Given the description of an element on the screen output the (x, y) to click on. 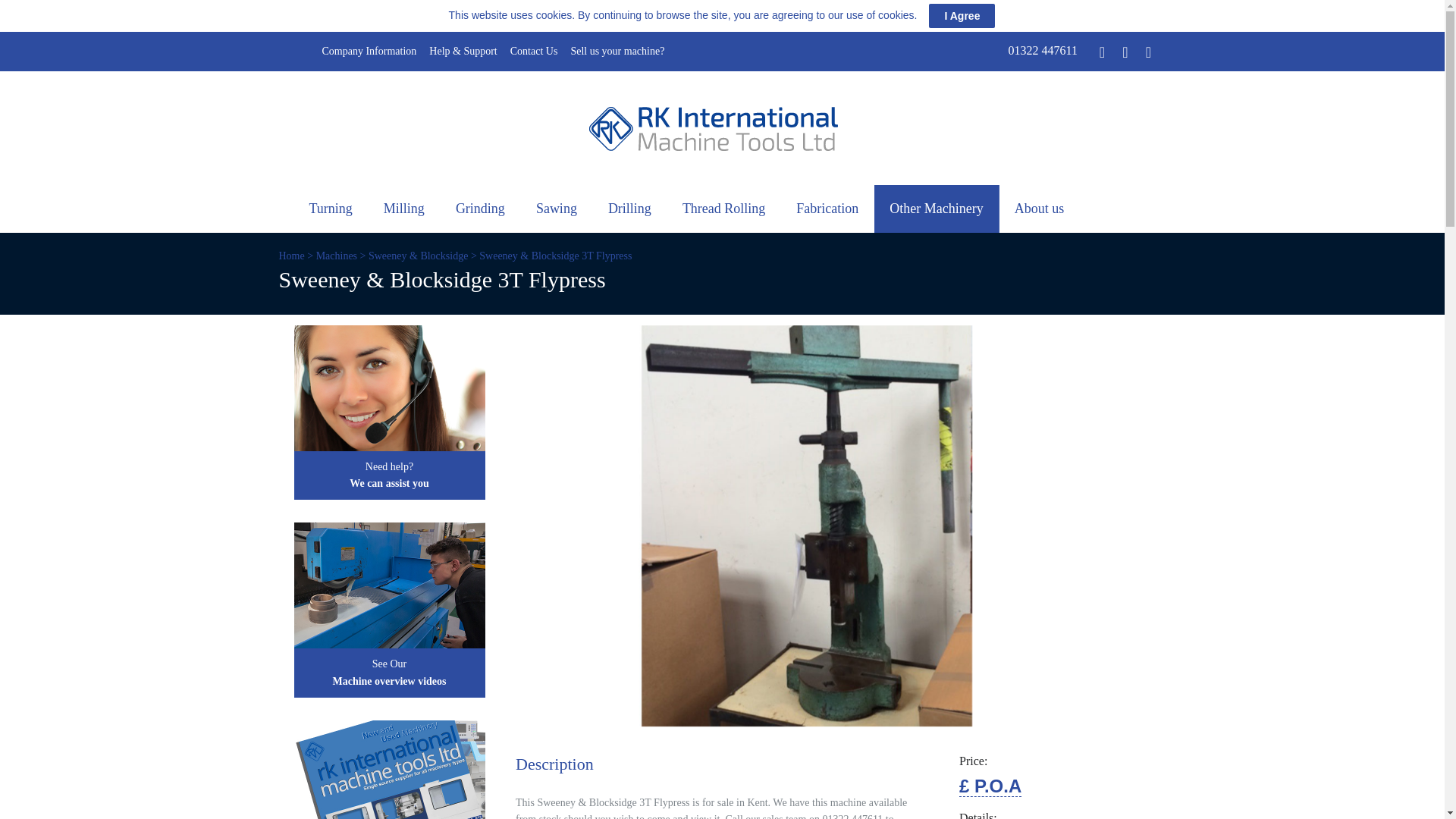
Sell us your machine? (616, 50)
Contact Us (534, 50)
Company Information (368, 50)
Turning (331, 208)
Milling (404, 208)
